Given the description of an element on the screen output the (x, y) to click on. 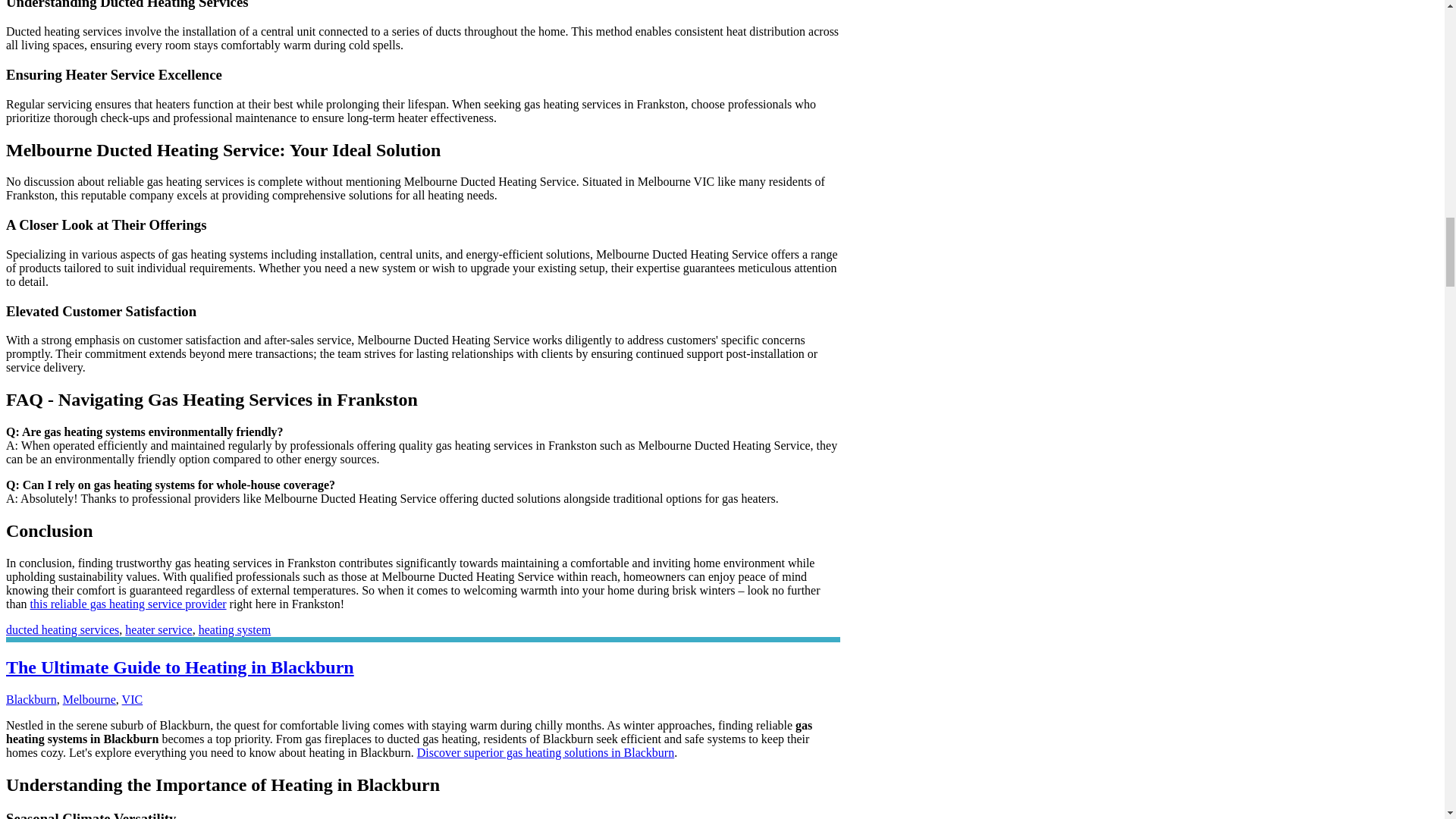
Discover superior gas heating solutions in Blackburn (545, 752)
this reliable gas heating service provider (128, 603)
The Ultimate Guide to Heating in Blackburn (179, 667)
Melbourne (89, 698)
ducted heating services (62, 629)
VIC (132, 698)
Blackburn (30, 698)
heater service (158, 629)
heating system (234, 629)
